Given the description of an element on the screen output the (x, y) to click on. 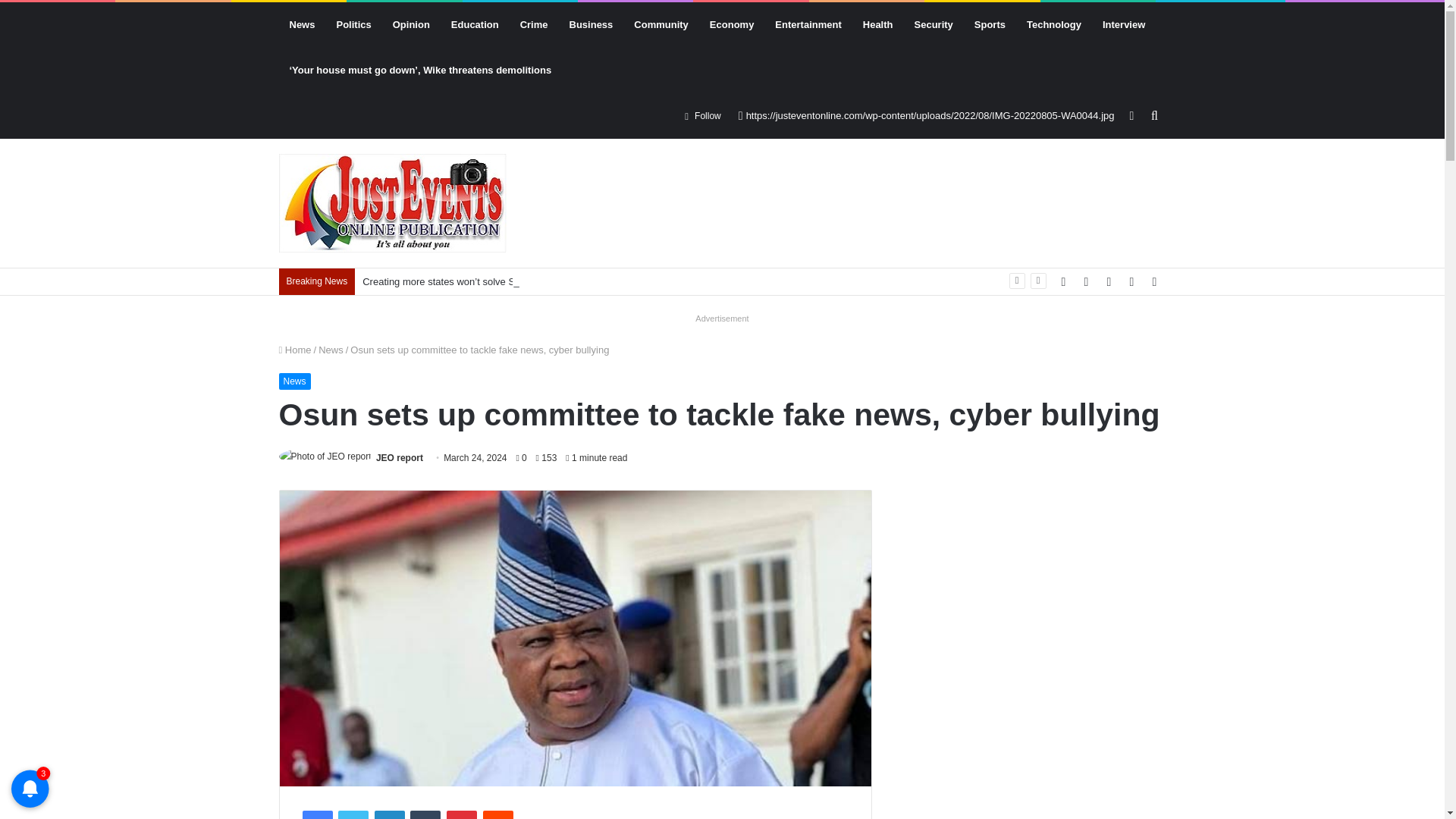
Health (877, 24)
Follow (702, 115)
Business (591, 24)
JEO report (399, 457)
News (295, 381)
Crime (534, 24)
Tumblr (425, 814)
News (302, 24)
Politics (352, 24)
Twitter (352, 814)
Entertainment (807, 24)
News (330, 349)
Pinterest (461, 814)
Home (295, 349)
Security (933, 24)
